Given the description of an element on the screen output the (x, y) to click on. 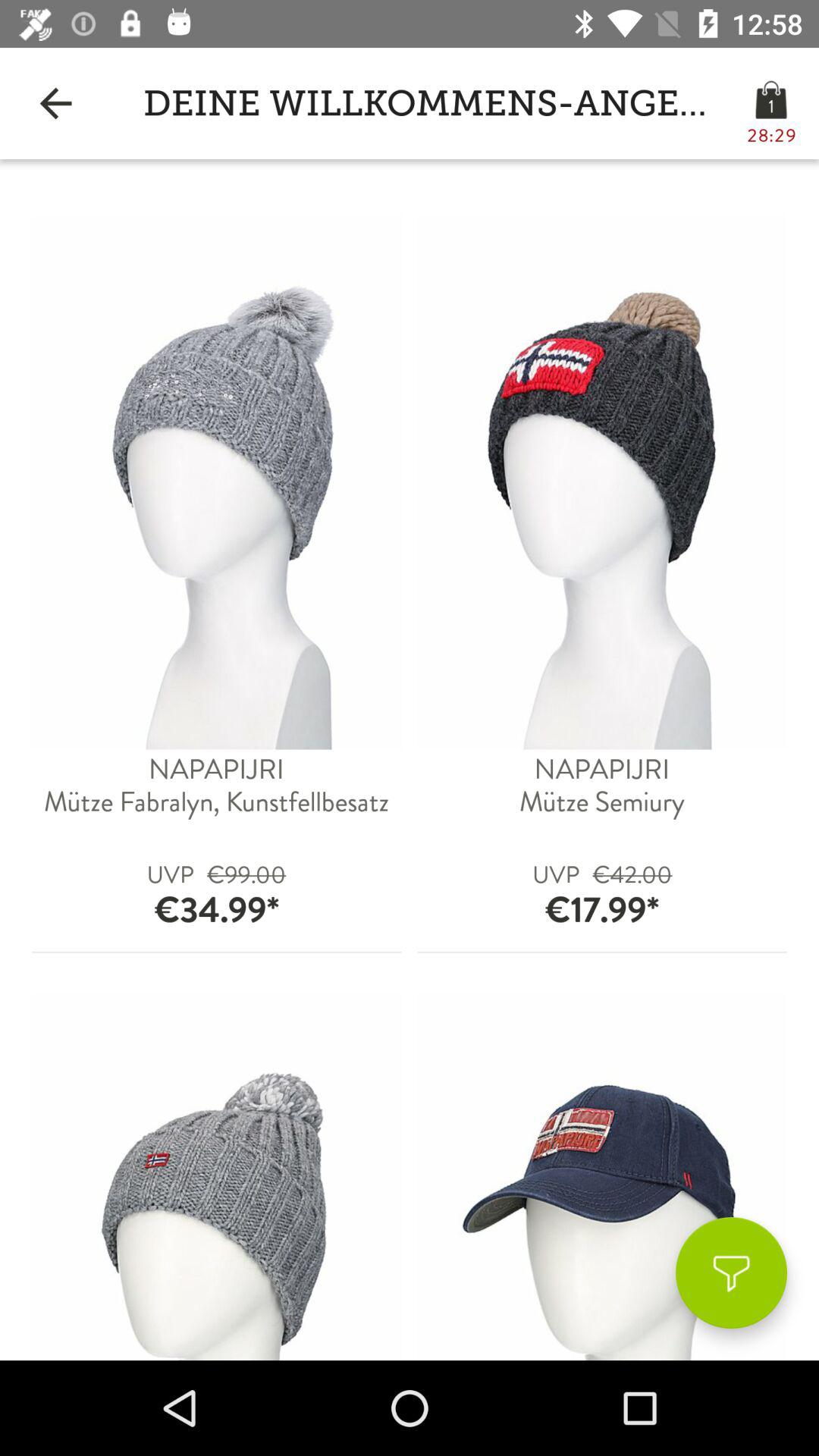
open item next to deine willkommens-angebote (55, 103)
